Given the description of an element on the screen output the (x, y) to click on. 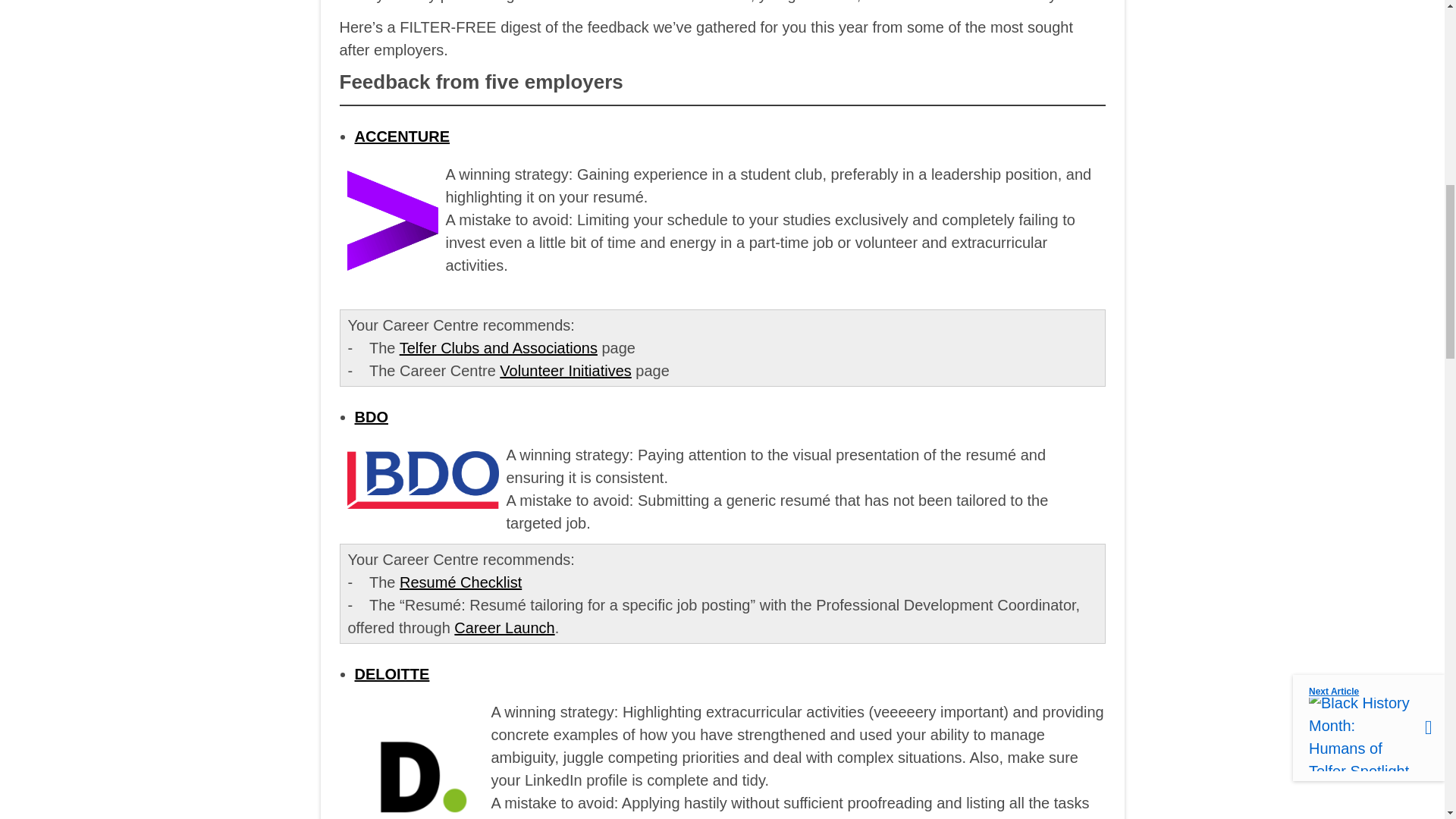
ACCENTURE (402, 135)
DELOITTE (392, 673)
Career Launch (504, 627)
Telfer Clubs and Associations (497, 347)
BDO (371, 416)
Volunteer Initiatives (564, 370)
